Given the description of an element on the screen output the (x, y) to click on. 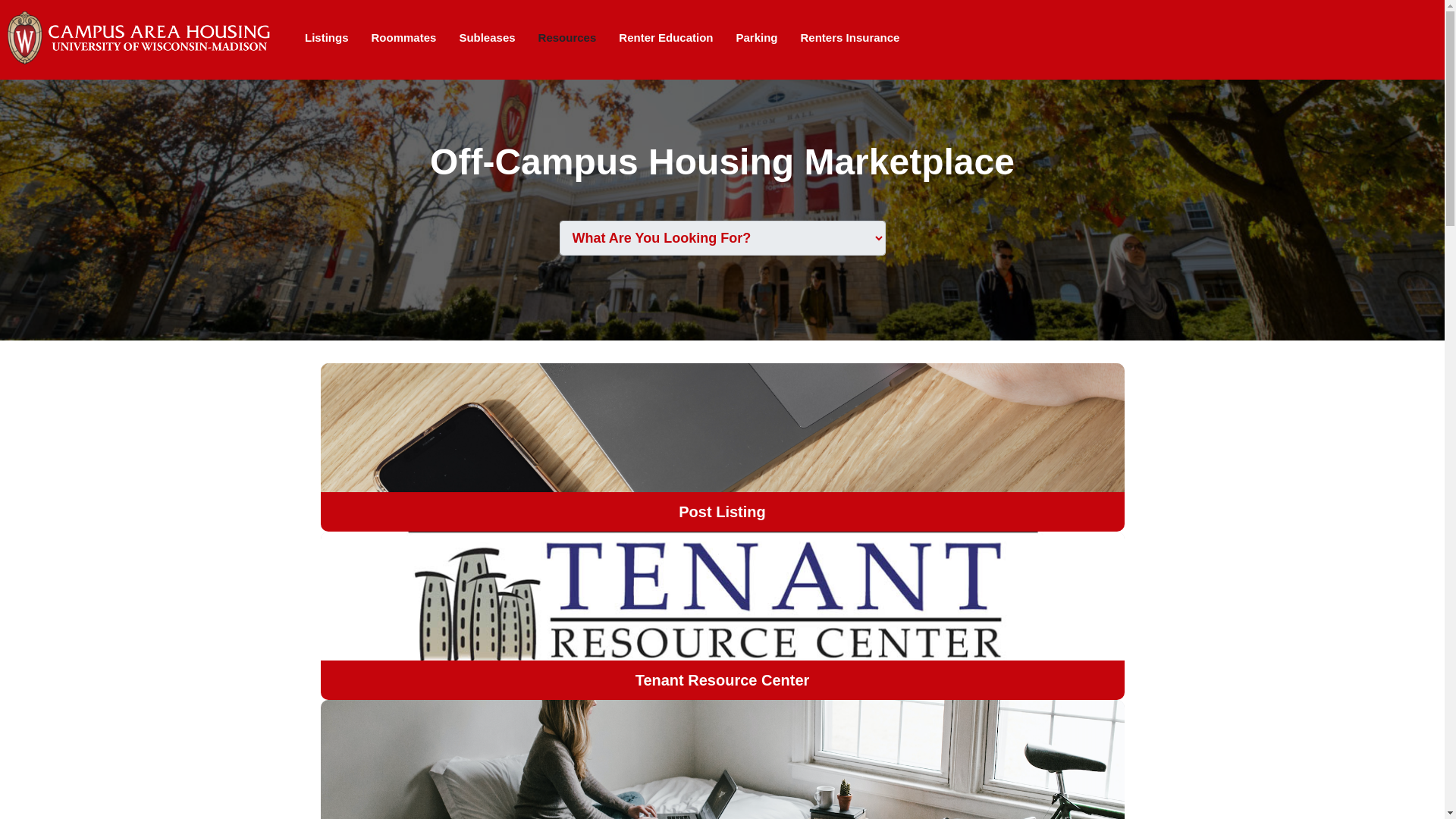
Parking (757, 38)
Subleases (485, 38)
Roommates (403, 38)
What Are You Looking For? (722, 237)
Find Off-Campus Housing (722, 759)
Listings (326, 38)
Resources (567, 38)
Renter Education (665, 38)
